Given the description of an element on the screen output the (x, y) to click on. 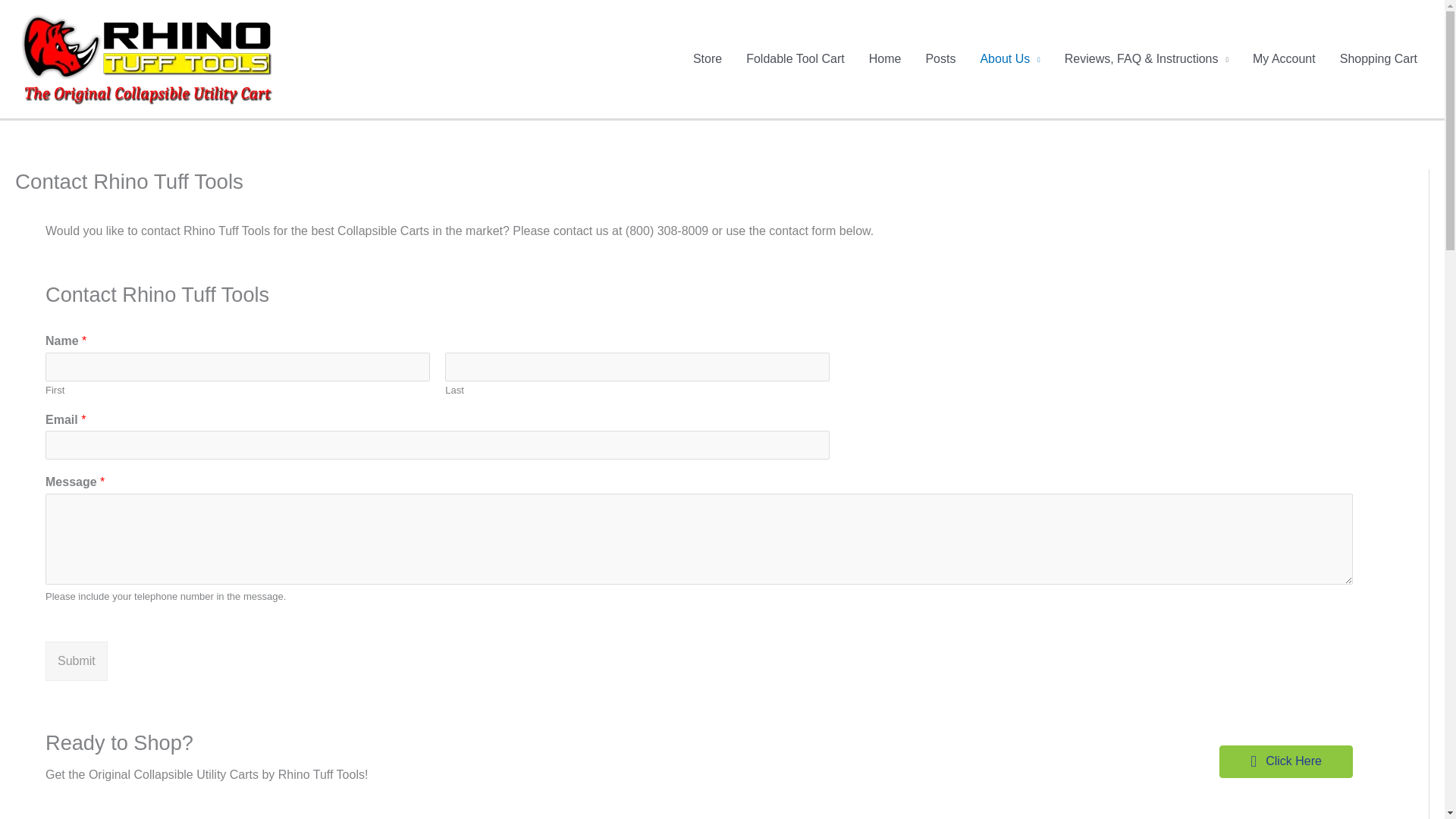
Store (707, 59)
Foldable Tool Cart (795, 59)
About Us (1009, 59)
Click Here (1286, 761)
Click Here (1286, 761)
Home (885, 59)
Posts (940, 59)
Shopping Cart (1378, 59)
My Account (1283, 59)
Submit (76, 660)
